Given the description of an element on the screen output the (x, y) to click on. 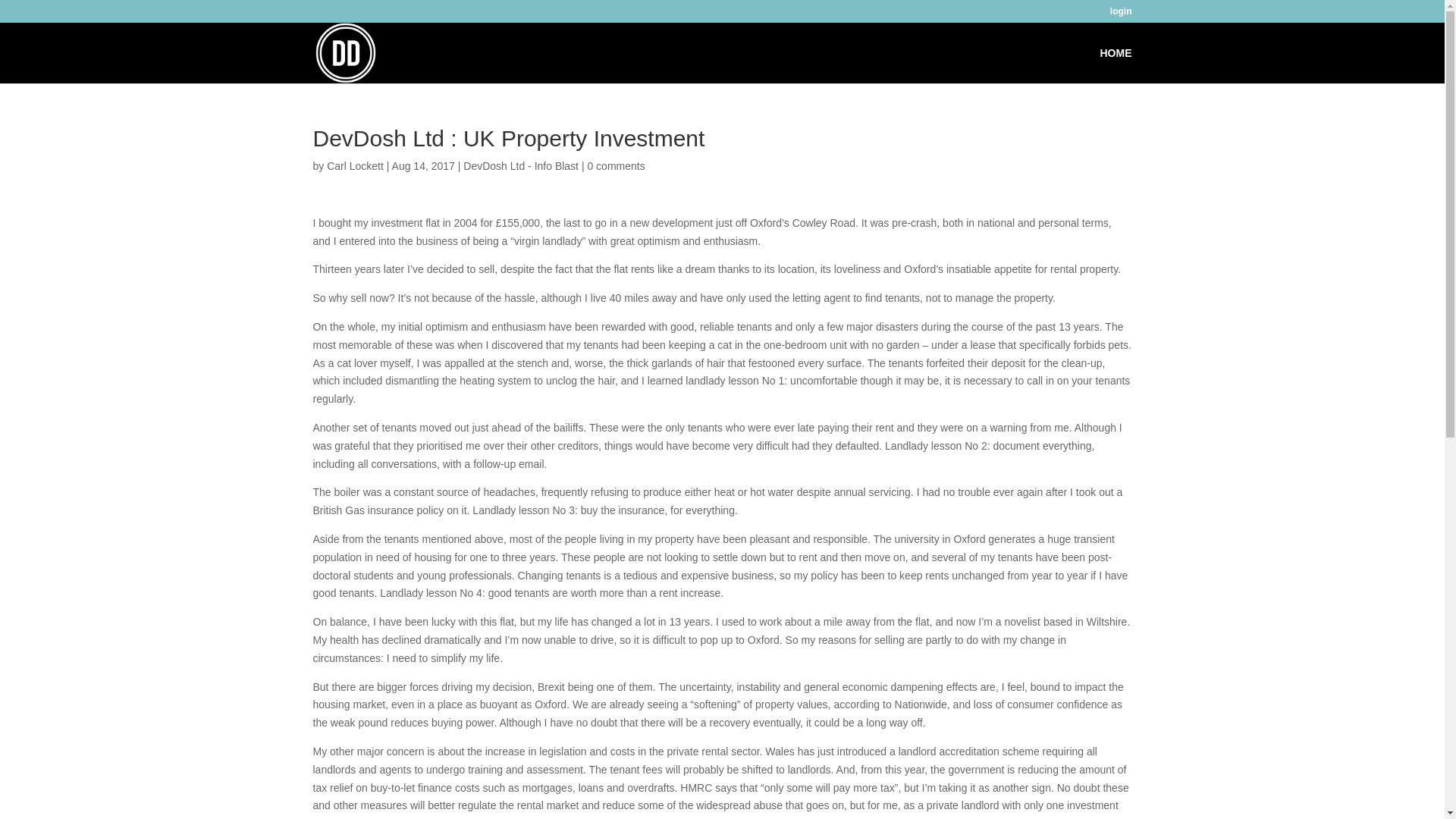
Login (1120, 14)
DevDosh Ltd - Info Blast (520, 165)
Carl Lockett (355, 165)
Posts by Carl Lockett (355, 165)
0 comments (615, 165)
HOME (1115, 65)
login (1120, 14)
